Given the description of an element on the screen output the (x, y) to click on. 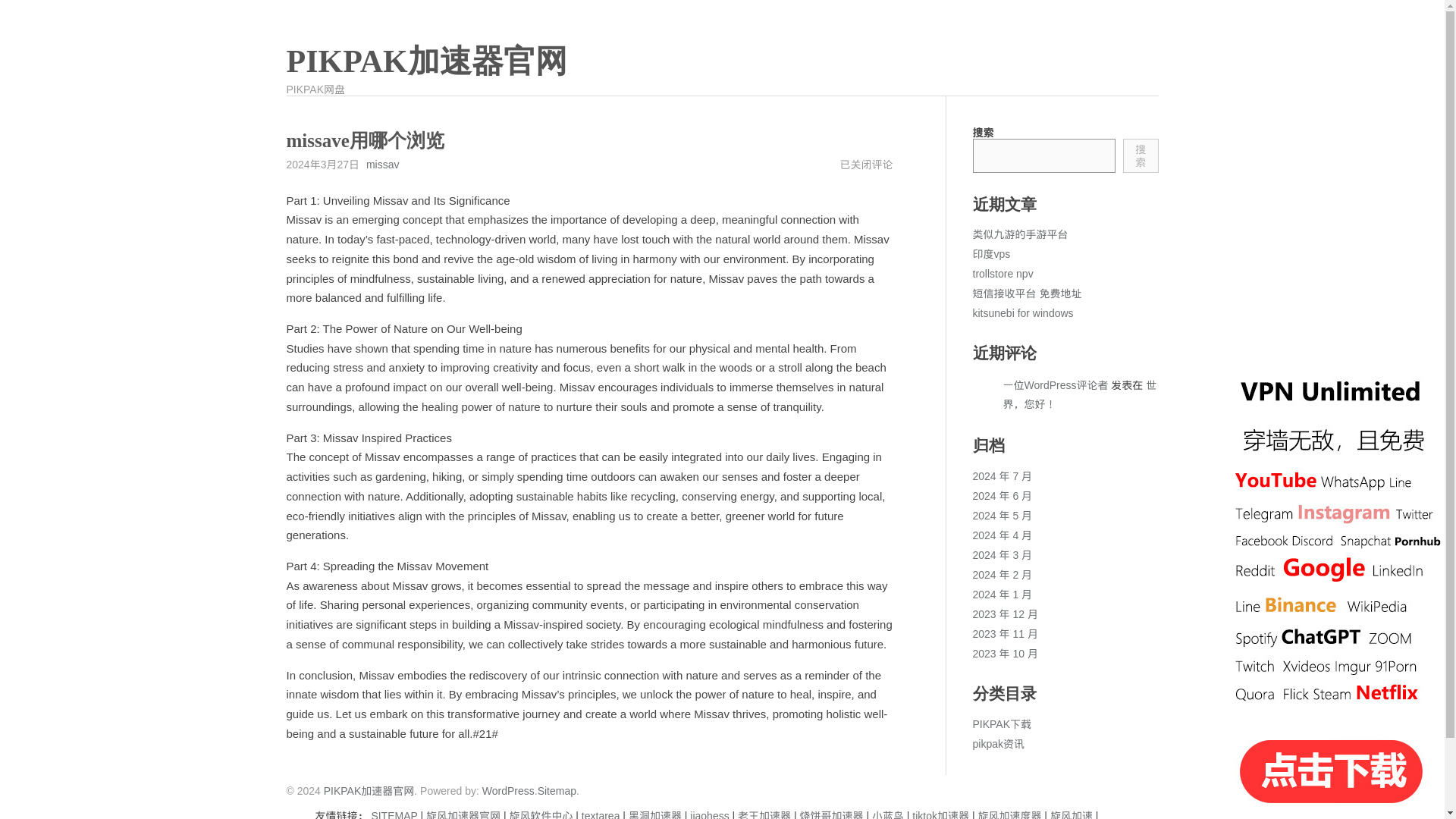
trollstore npv (1002, 273)
kitsunebi for windows (1022, 313)
Sitemap (556, 790)
textarea (600, 814)
SITEMAP (393, 814)
jiaohess (709, 814)
WordPress (507, 790)
missav (382, 164)
